Given the description of an element on the screen output the (x, y) to click on. 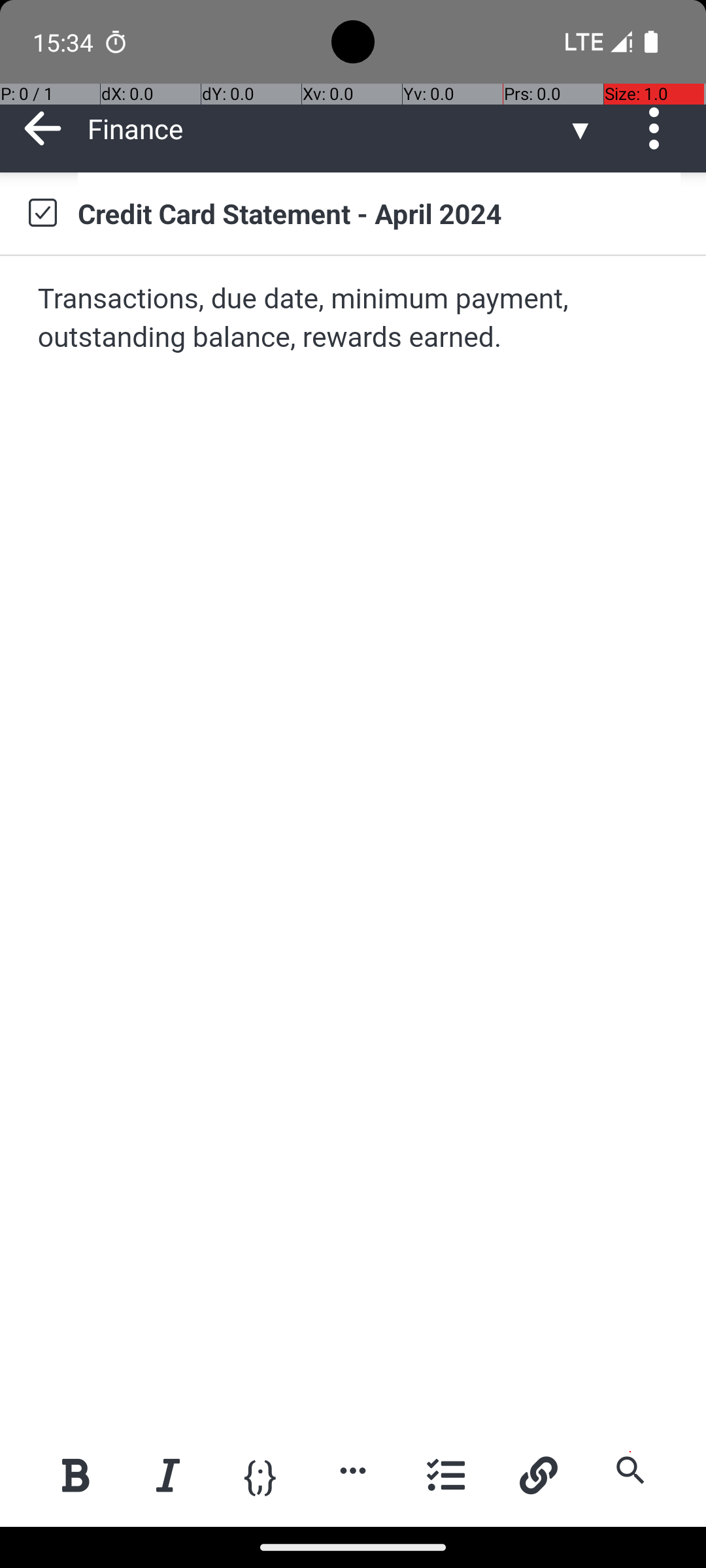
Credit Card Statement - April 2024 Element type: android.widget.EditText (378, 213)
 Element type: android.widget.TextView (42, 212)
Transactions, due date, minimum payment, outstanding balance, rewards earned. Element type: android.widget.EditText (354, 318)
